Given the description of an element on the screen output the (x, y) to click on. 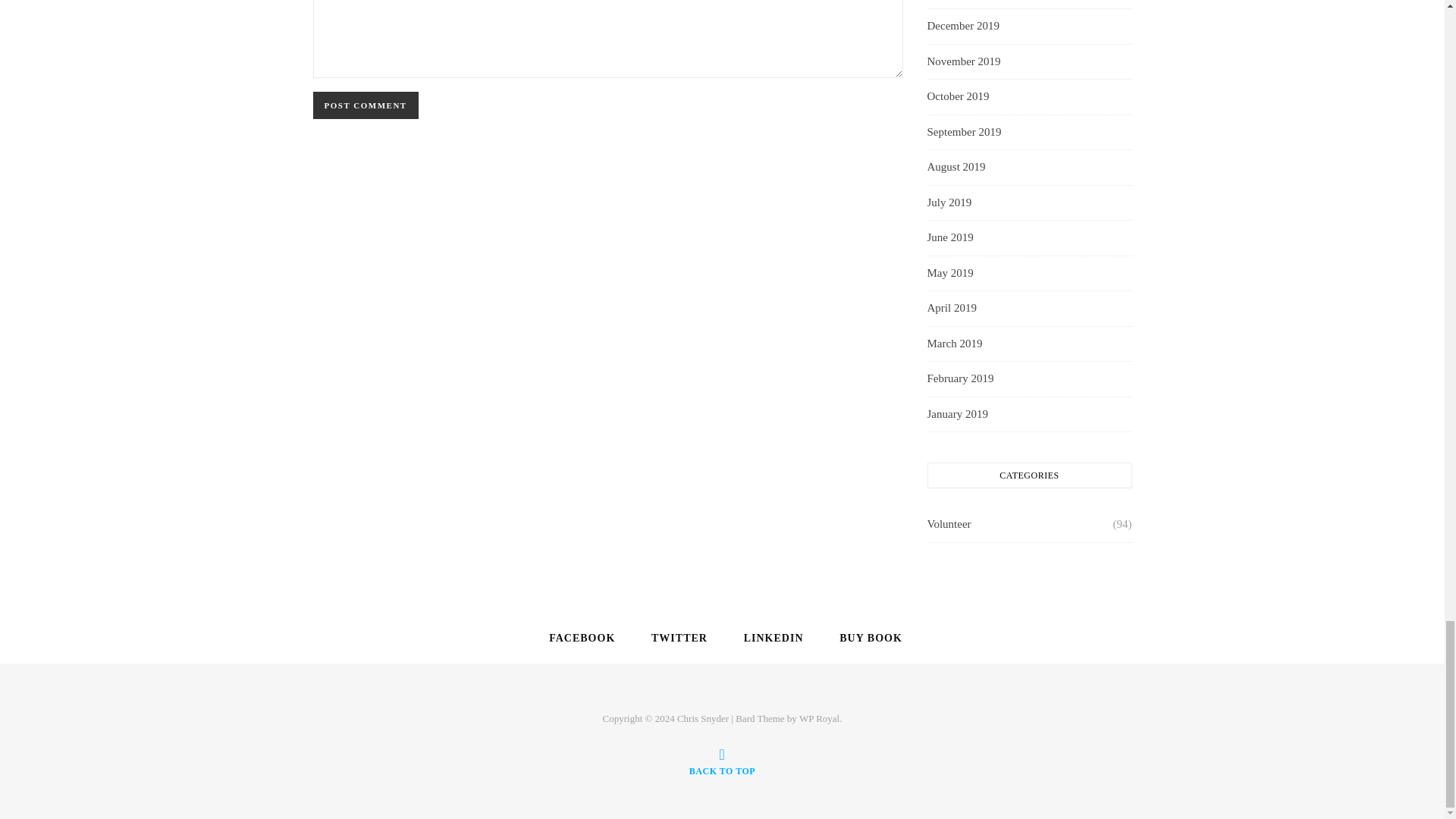
BACK TO TOP (722, 761)
Post Comment (365, 104)
Post Comment (365, 104)
